Given the description of an element on the screen output the (x, y) to click on. 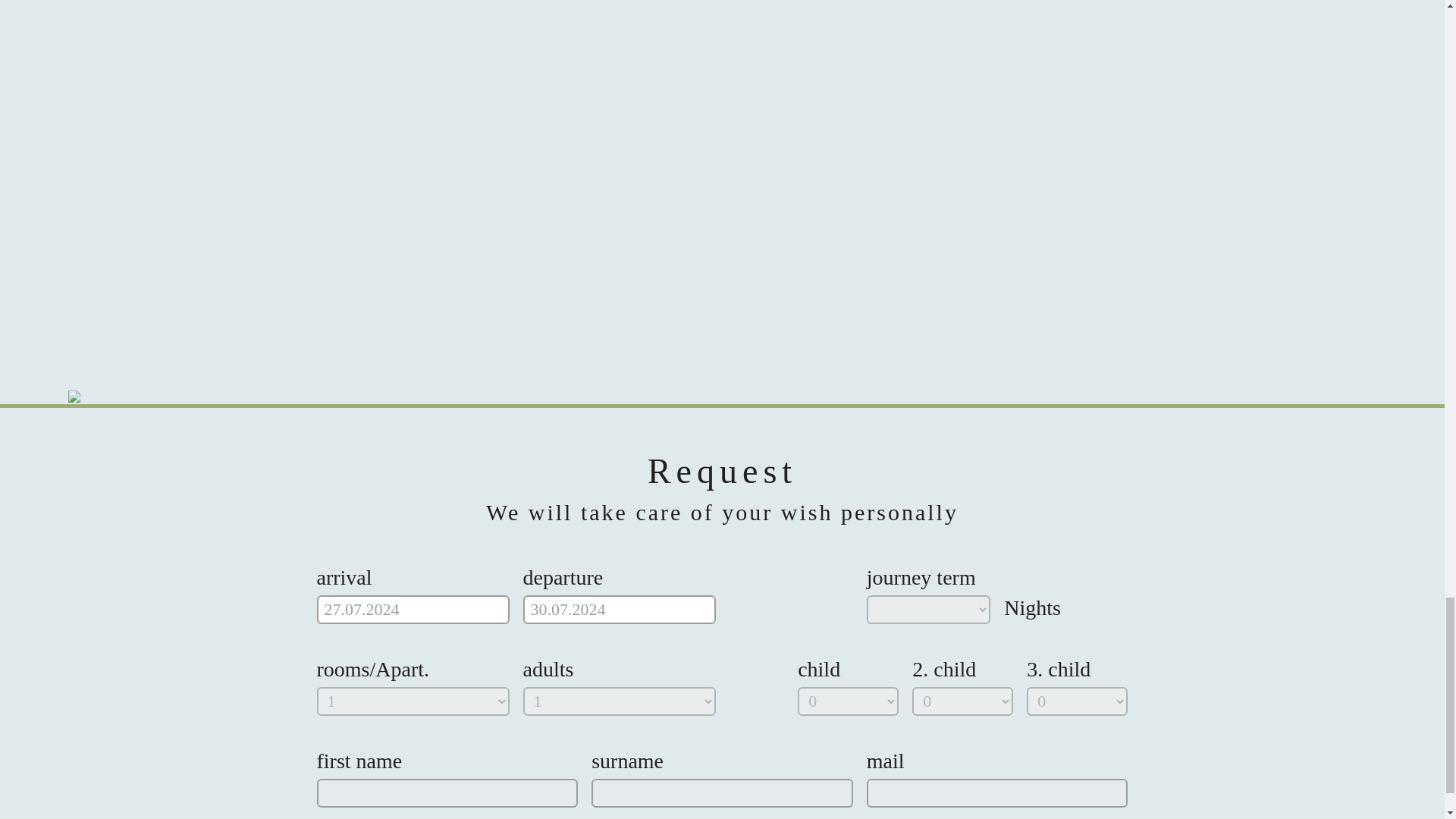
30.07.2024 (619, 609)
27.07.2024 (413, 609)
